Given the description of an element on the screen output the (x, y) to click on. 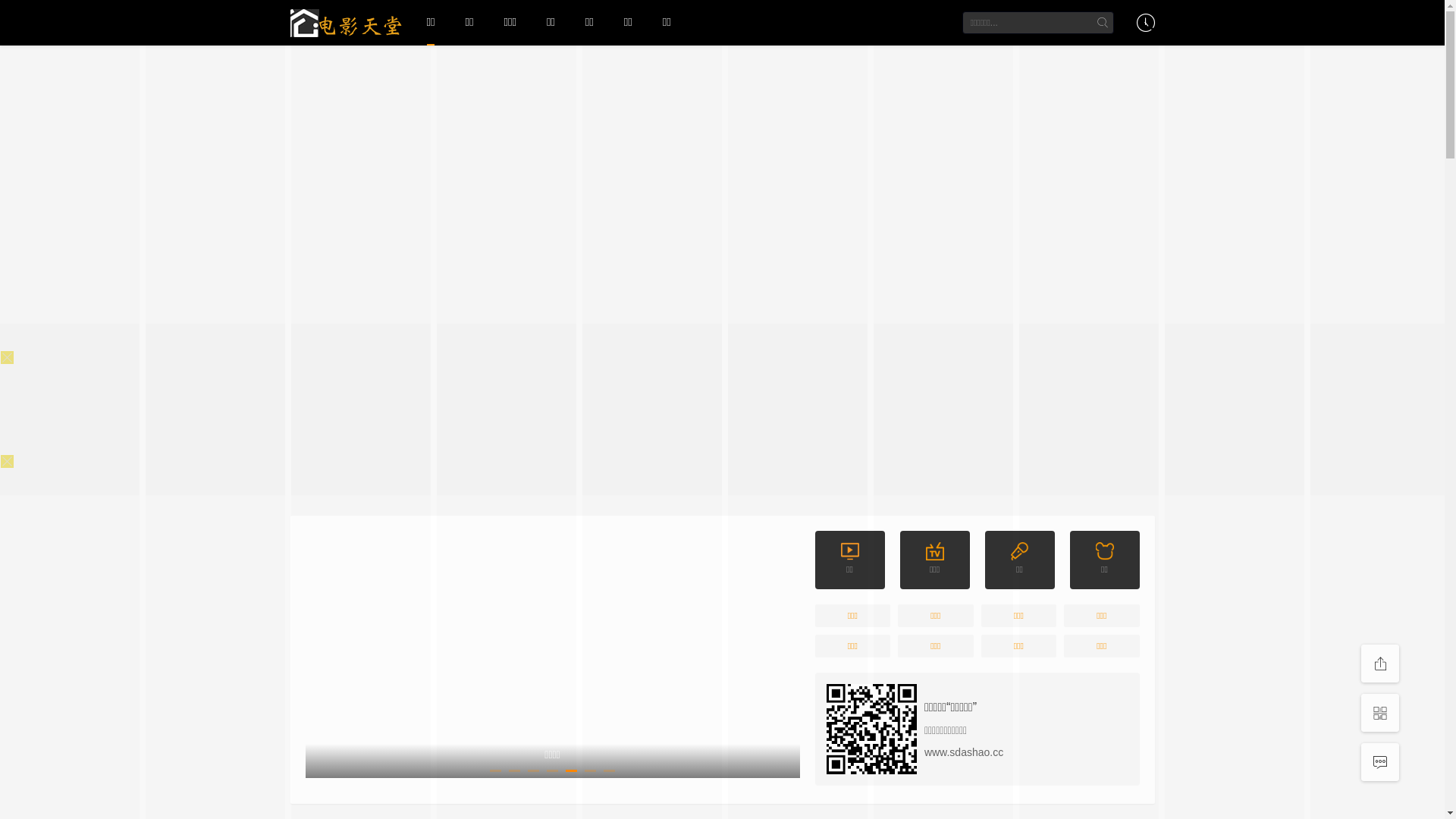
http://www.sdashao.cc/ Element type: hover (871, 729)
